Given the description of an element on the screen output the (x, y) to click on. 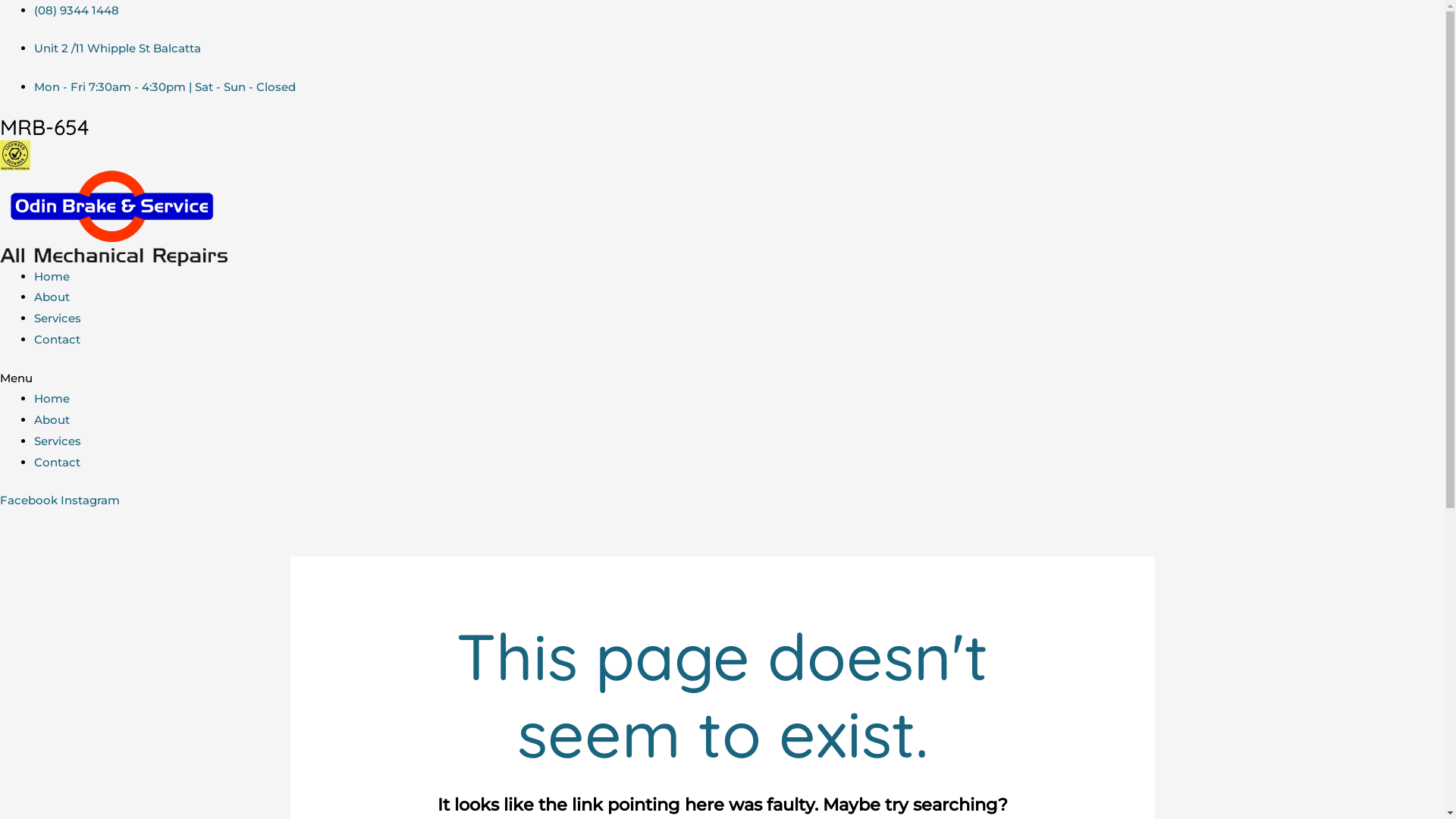
About Element type: text (51, 296)
(08) 9344 1448 Element type: text (76, 10)
Facebook Element type: text (30, 499)
Contact Element type: text (57, 339)
Mon - Fri 7:30am - 4:30pm | Sat - Sun - Closed Element type: text (164, 86)
Instagram Element type: text (89, 499)
Unit 2 /11 Whipple St Balcatta Element type: text (117, 47)
Services Element type: text (57, 440)
About Element type: text (51, 419)
Home Element type: text (51, 276)
Services Element type: text (57, 317)
Contact Element type: text (57, 462)
Home Element type: text (51, 398)
licensedrepairertick Element type: hover (15, 155)
